Given the description of an element on the screen output the (x, y) to click on. 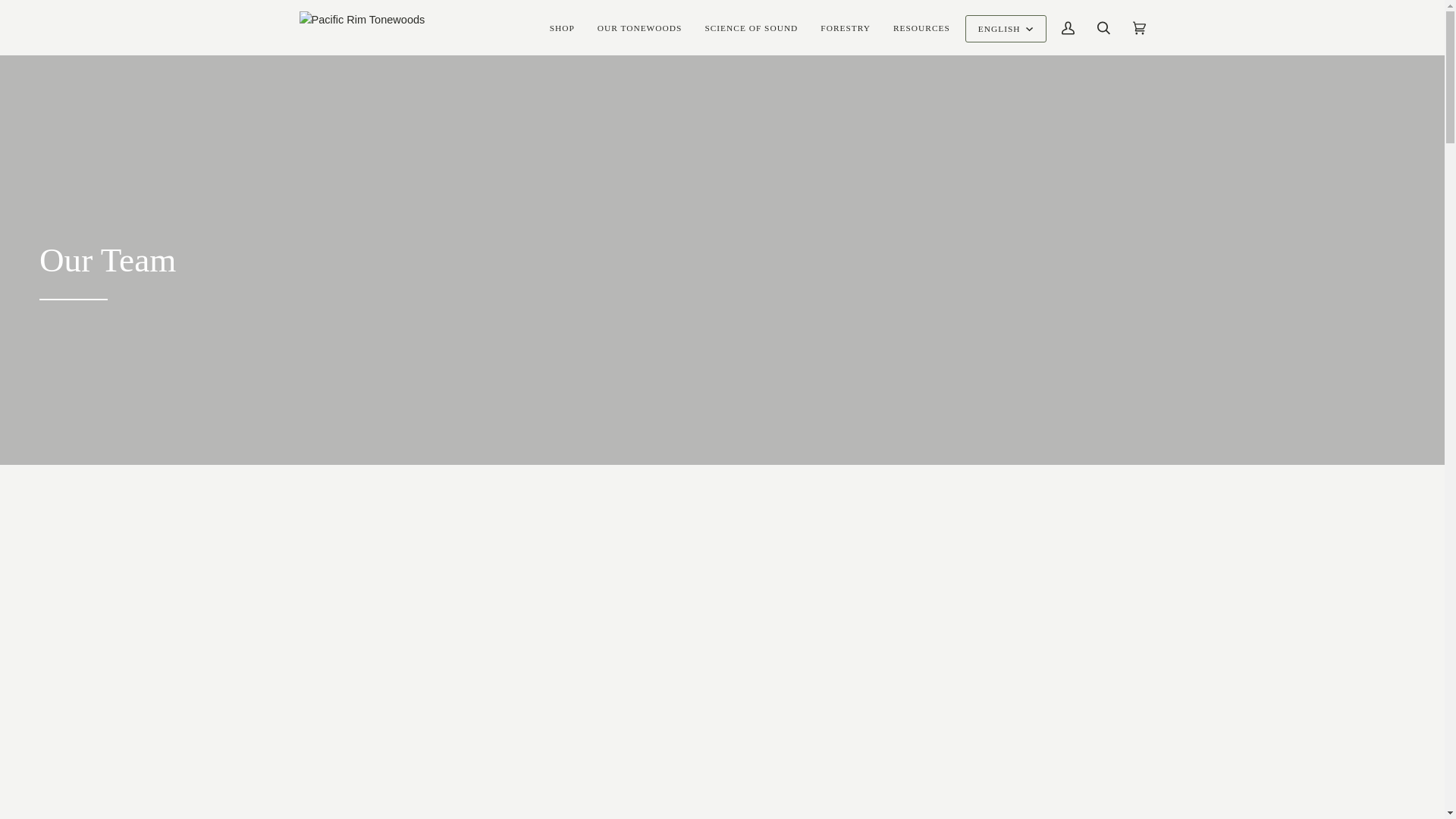
ENGLISH (1005, 28)
FORESTRY (845, 27)
RESOURCES (921, 27)
SCIENCE OF SOUND (751, 27)
OUR TONEWOODS (640, 27)
